Given the description of an element on the screen output the (x, y) to click on. 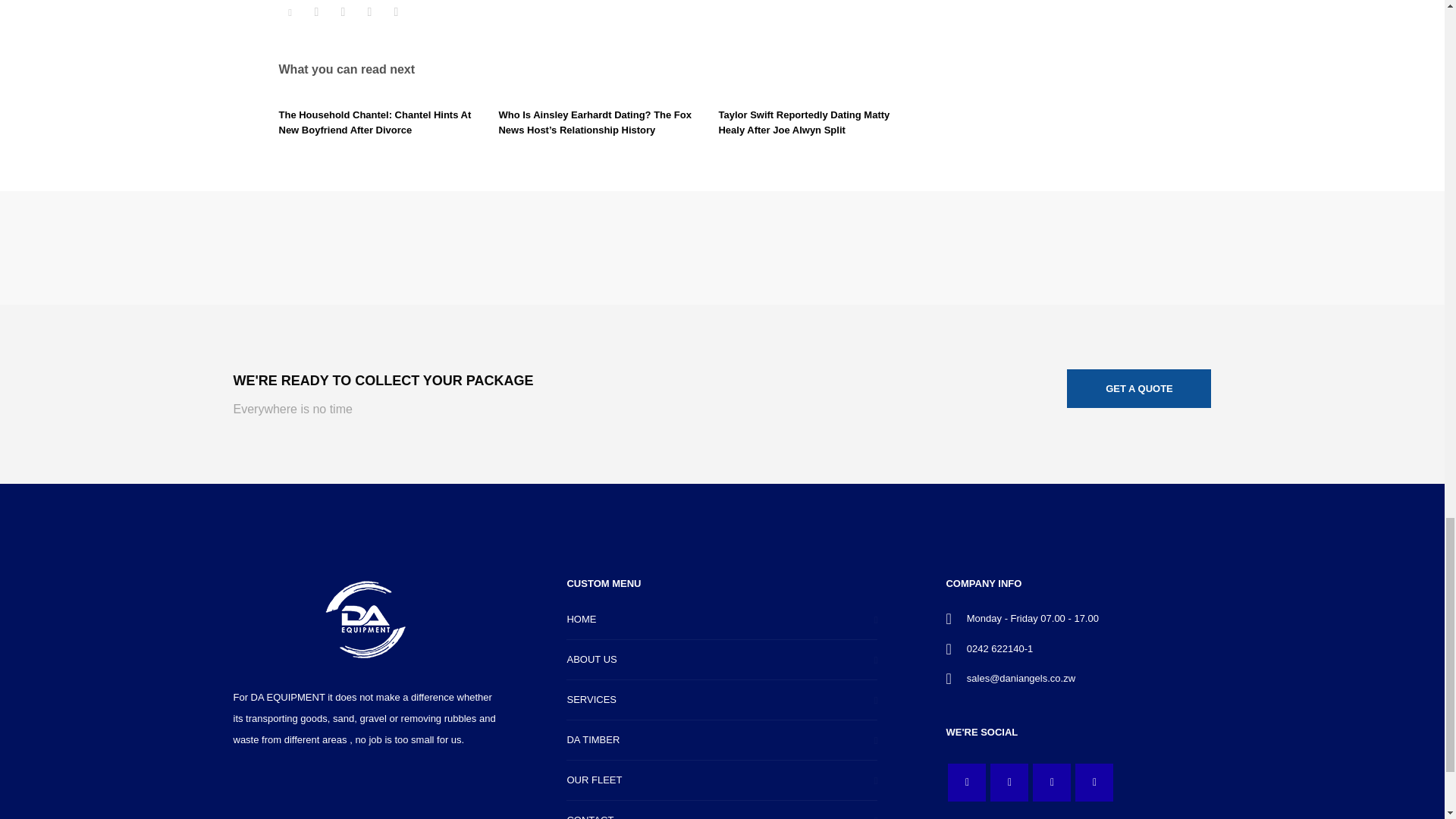
GET A QUOTE (1139, 388)
SERVICES (721, 700)
SHARE ON GPLUS (343, 11)
CONTACT (721, 809)
SHARE ON TWITTER (290, 12)
SHARE ON MAIL (396, 11)
SHARE ON PINTEREST (369, 11)
HOME (721, 619)
ABOUT US (721, 659)
